Given the description of an element on the screen output the (x, y) to click on. 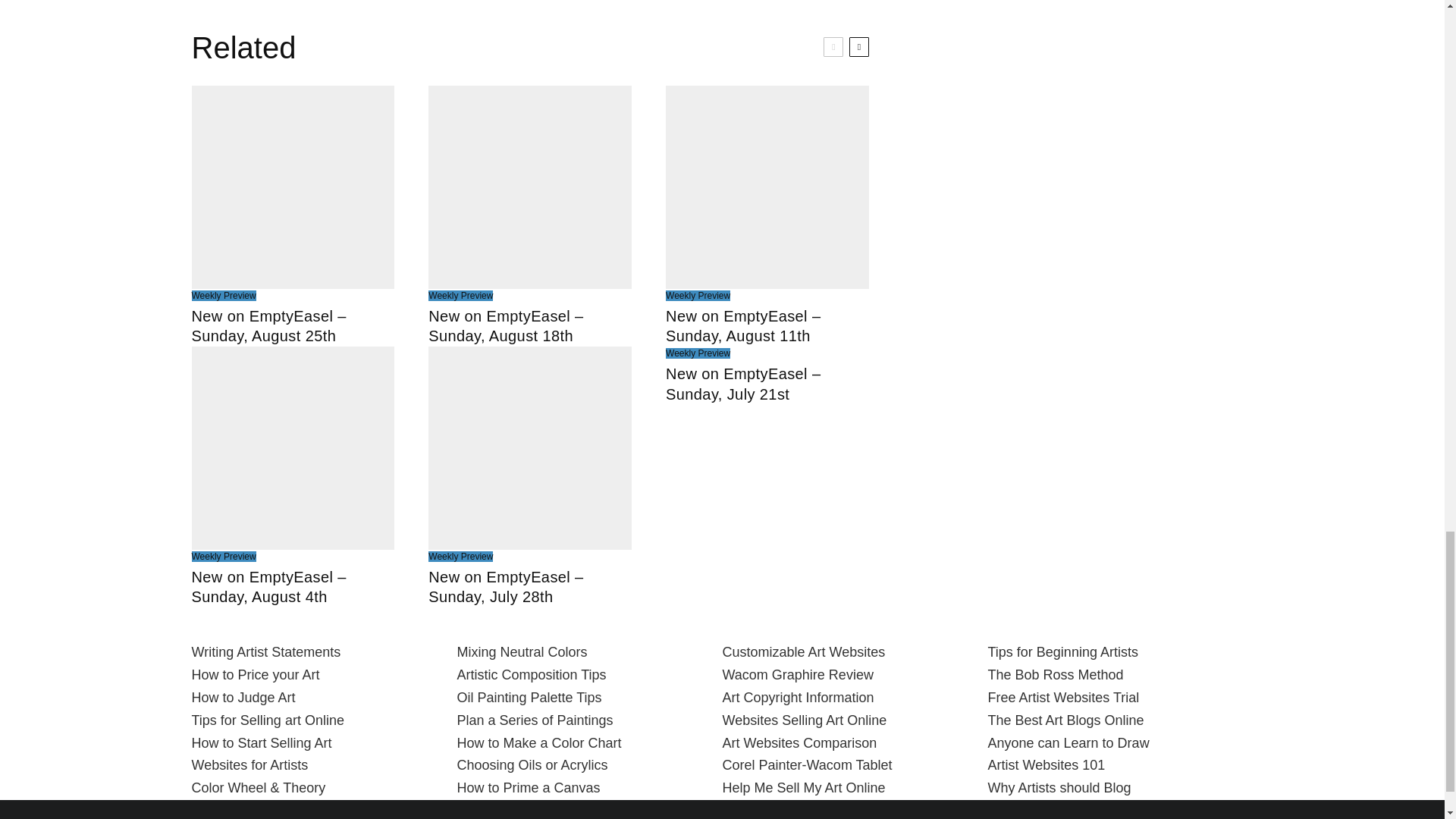
How to start selling your art (260, 743)
These artist websites allow tons of customization (803, 652)
How to create a simple color chart (539, 743)
Artist websites that actually help you sell art online (248, 765)
Nine steps to creating better compositions (531, 674)
Article on how to mix neutral colors like brown and black (521, 652)
How to judge art: Five qualities you can critique (242, 697)
A guide to choosing between oil paint and acrylic paint (532, 765)
How to write a good artists statement and resume (265, 652)
